Given the description of an element on the screen output the (x, y) to click on. 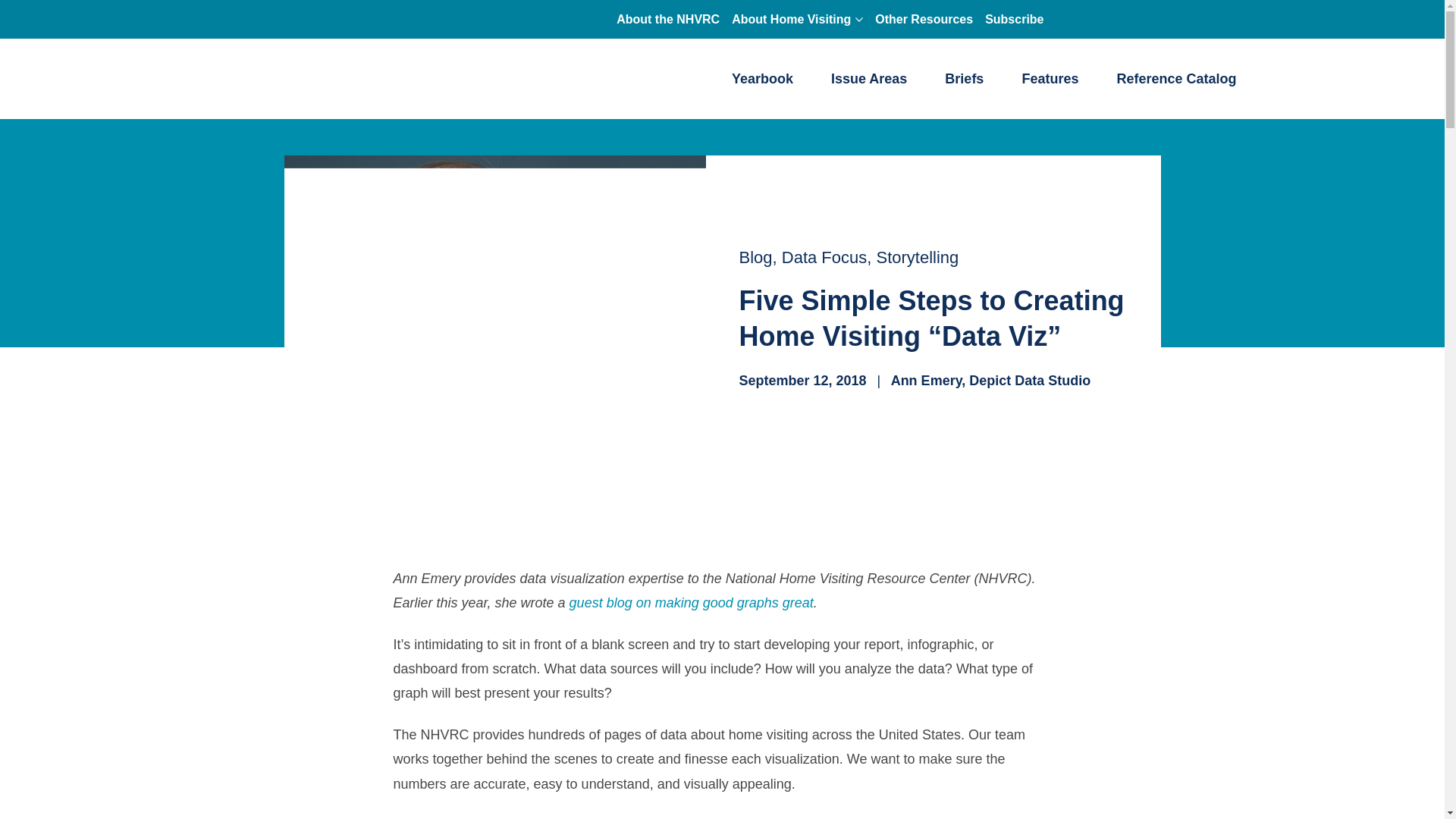
Twitter (1106, 17)
Subscribe (1013, 19)
Other Resources (923, 19)
open search field (1220, 15)
National Home Visiting Resource Center (294, 78)
Skip to main content (614, 4)
Reference Catalog (1176, 78)
YouTube (1147, 17)
Features (1050, 78)
LinkedIn (1188, 17)
